Given the description of an element on the screen output the (x, y) to click on. 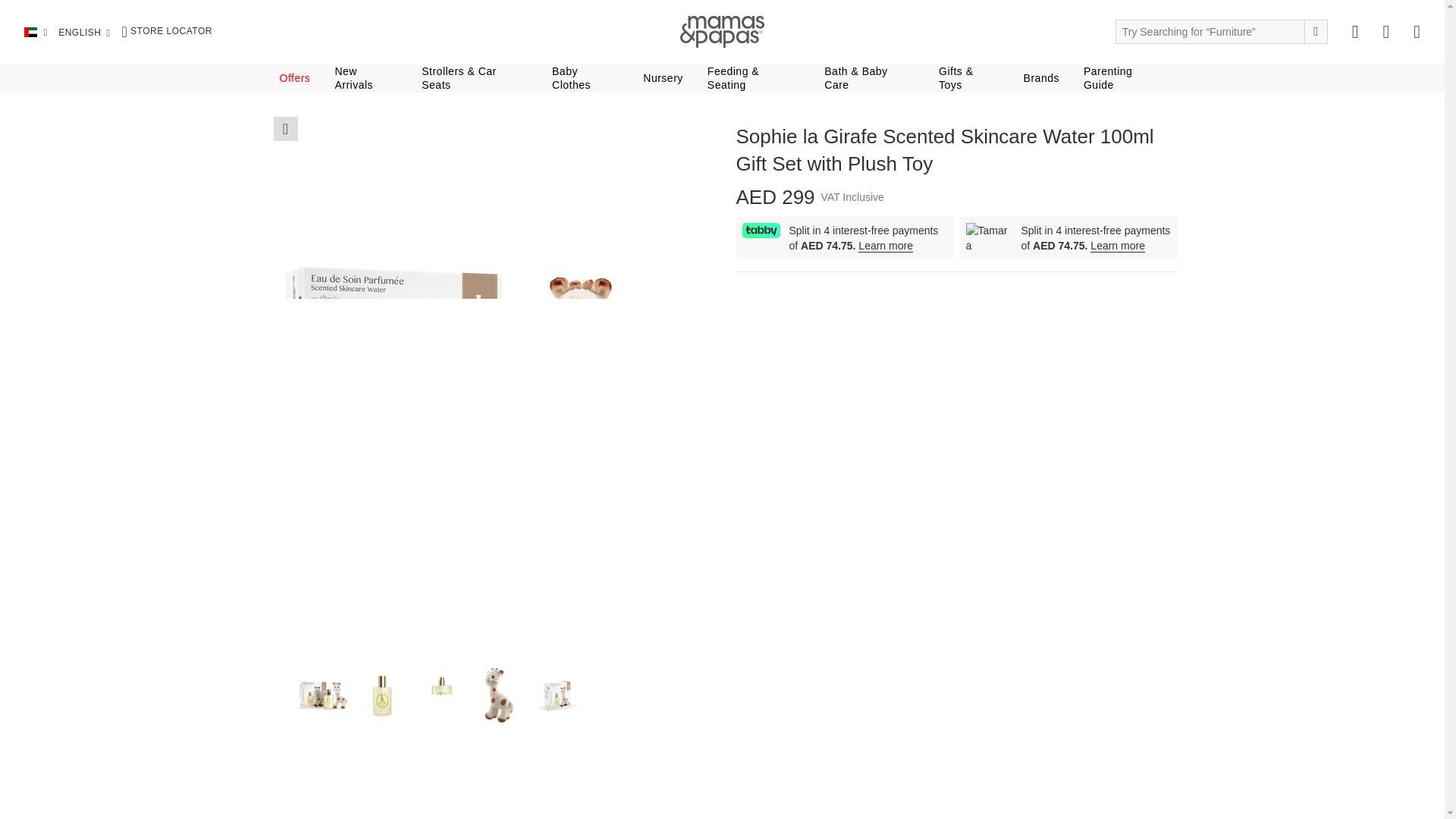
STORE LOCATOR (166, 31)
Offers (293, 78)
